Given the description of an element on the screen output the (x, y) to click on. 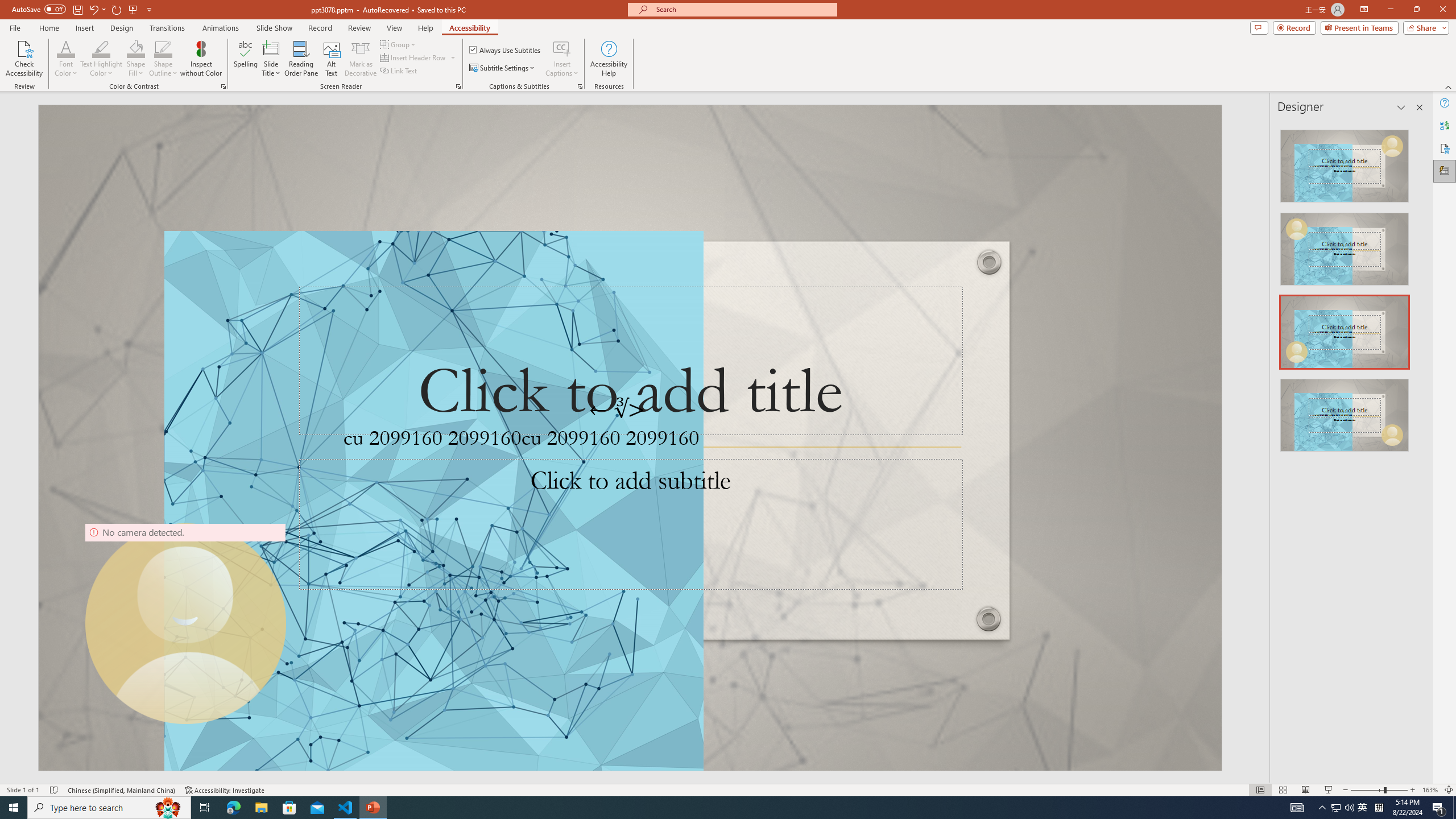
Zoom 163% (1430, 790)
